Given the description of an element on the screen output the (x, y) to click on. 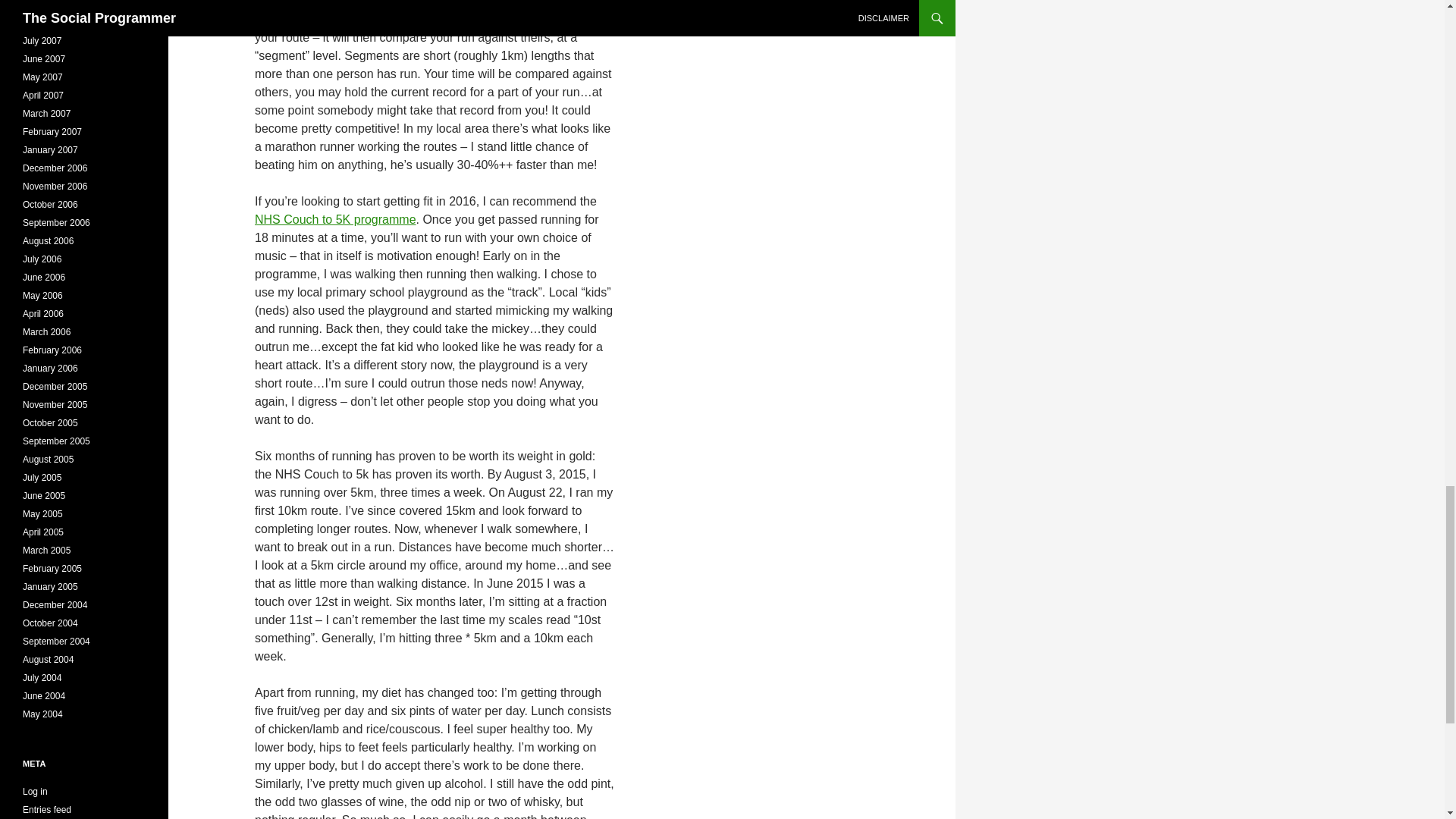
NHS Couch to 5K programme (335, 219)
